Given the description of an element on the screen output the (x, y) to click on. 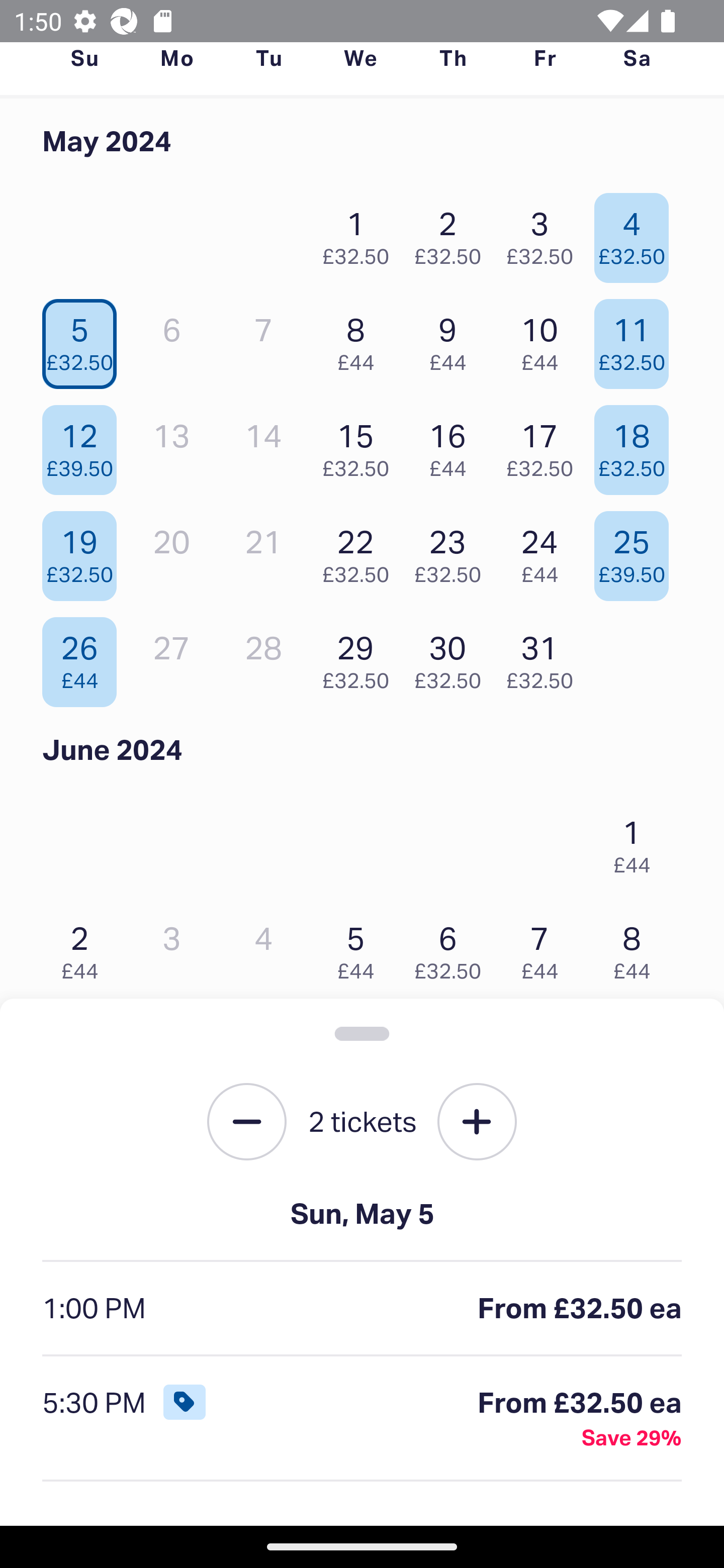
1 £32.50 (360, 232)
2 £32.50 (452, 232)
3 £32.50 (544, 232)
4 £32.50 (636, 232)
5 £32.50 (84, 339)
8 £44 (360, 339)
9 £44 (452, 339)
10 £44 (544, 339)
11 £32.50 (636, 339)
12 £39.50 (84, 445)
15 £32.50 (360, 445)
16 £44 (452, 445)
17 £32.50 (544, 445)
18 £32.50 (636, 445)
19 £32.50 (84, 550)
22 £32.50 (360, 550)
23 £32.50 (452, 550)
24 £44 (544, 550)
25 £39.50 (636, 550)
26 £44 (84, 657)
29 £32.50 (360, 657)
30 £32.50 (452, 657)
31 £32.50 (544, 657)
1 £44 (636, 841)
2 £44 (84, 947)
5 £44 (360, 947)
6 £32.50 (452, 947)
7 £44 (544, 947)
8 £44 (636, 947)
1:00 PM From £32.50 ea (361, 1309)
5:30 PM From £32.50 ea Save 29% (361, 1418)
